Given the description of an element on the screen output the (x, y) to click on. 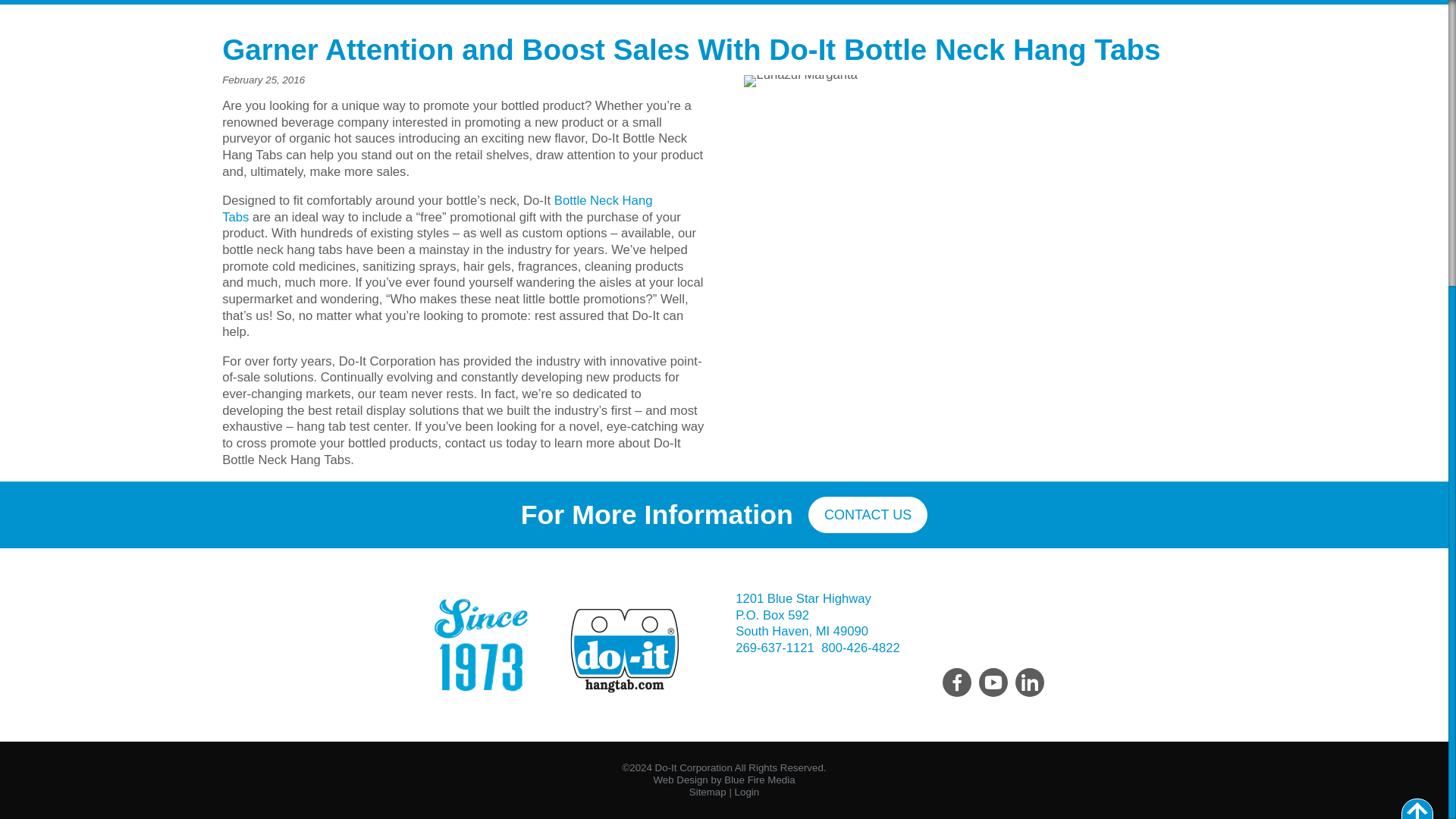
Bottle Neck Hang Tabs (437, 208)
Click here to login to this website. (747, 791)
Click here to view the Sitemap page of this website. (707, 791)
Lunazul Margarita (800, 80)
CONTACT US (867, 514)
